Given the description of an element on the screen output the (x, y) to click on. 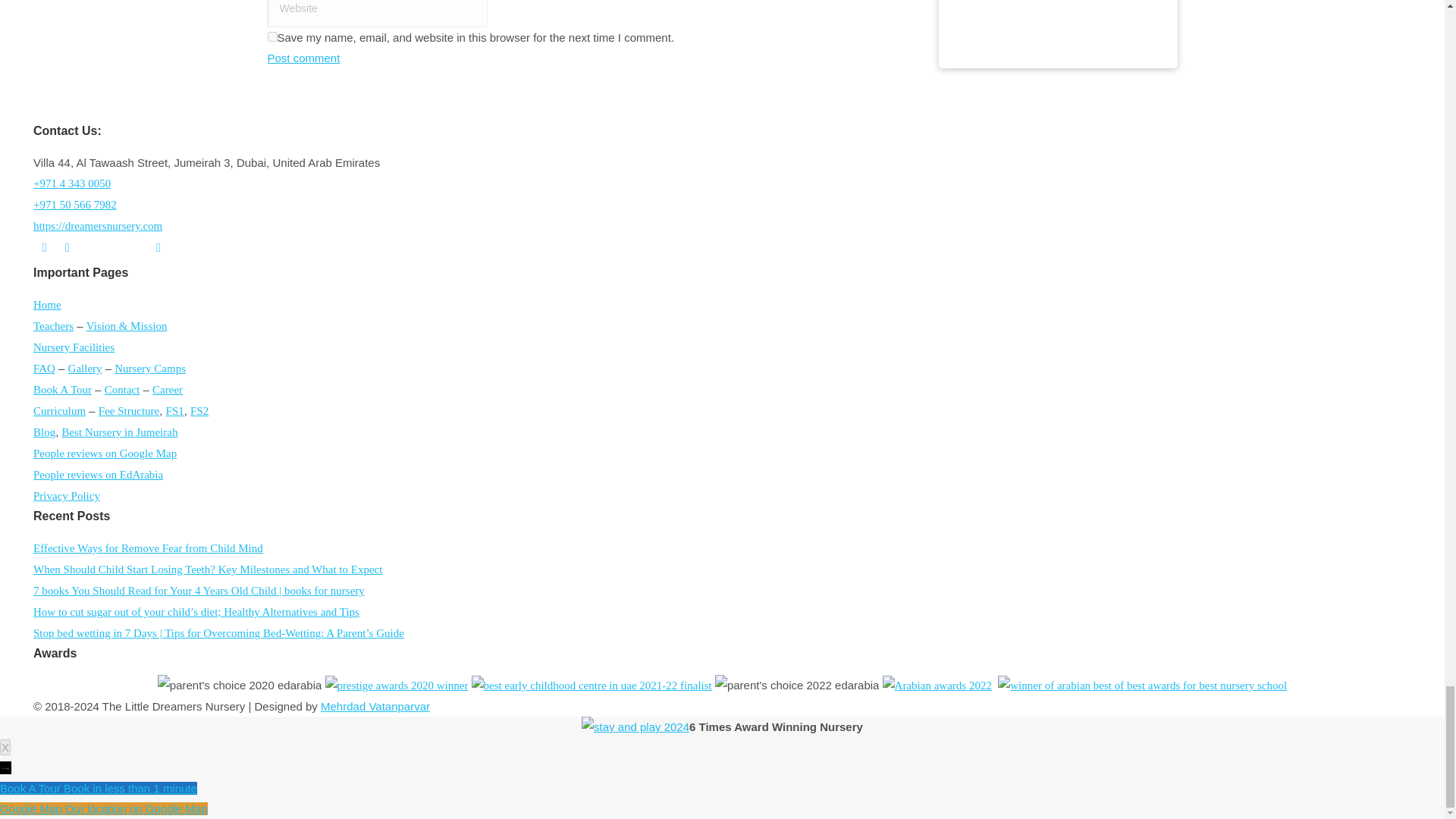
yes (271, 36)
The Little Dreamers Nursery (97, 225)
